Given the description of an element on the screen output the (x, y) to click on. 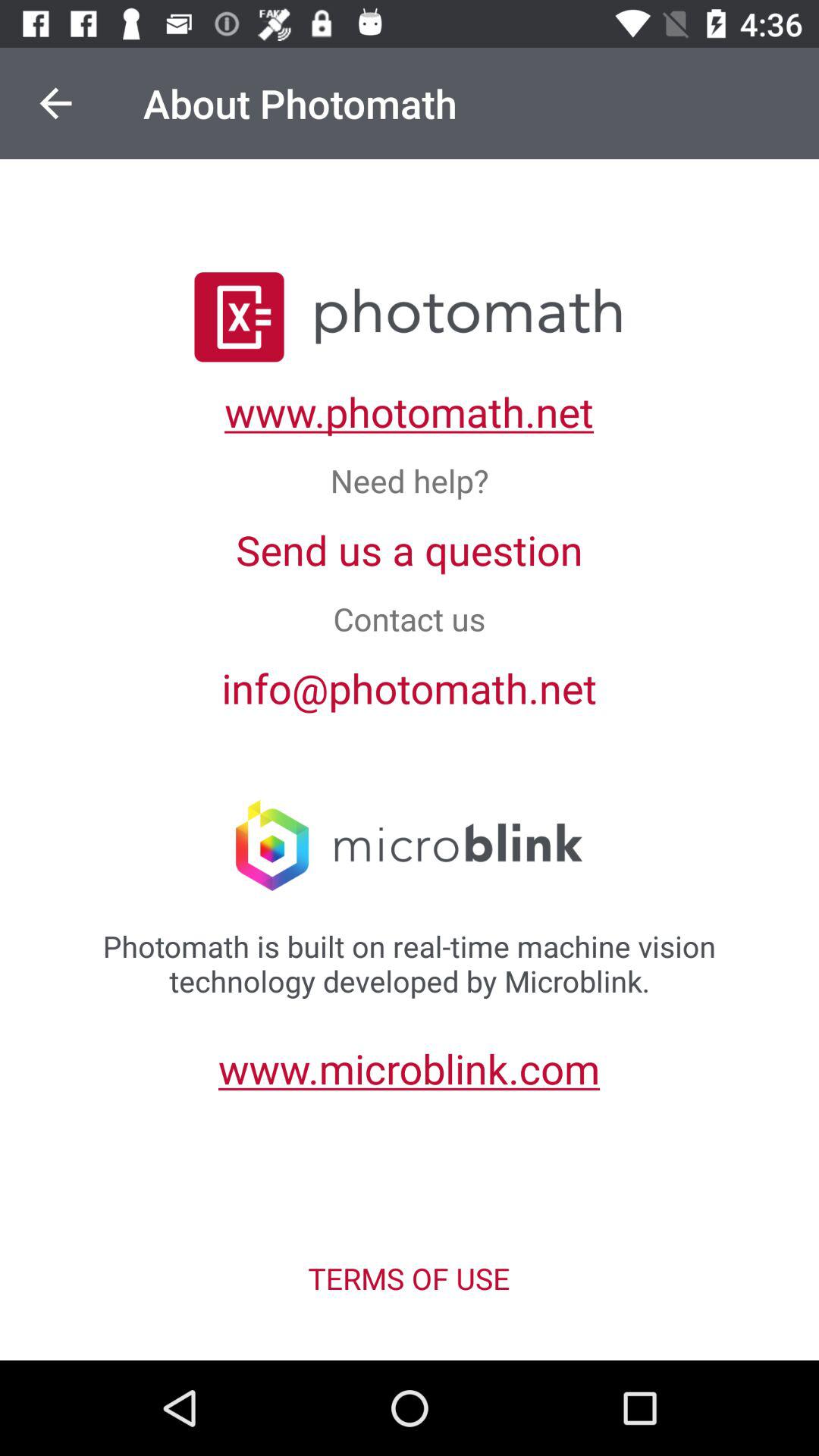
tap icon above the photomath is built icon (55, 103)
